Given the description of an element on the screen output the (x, y) to click on. 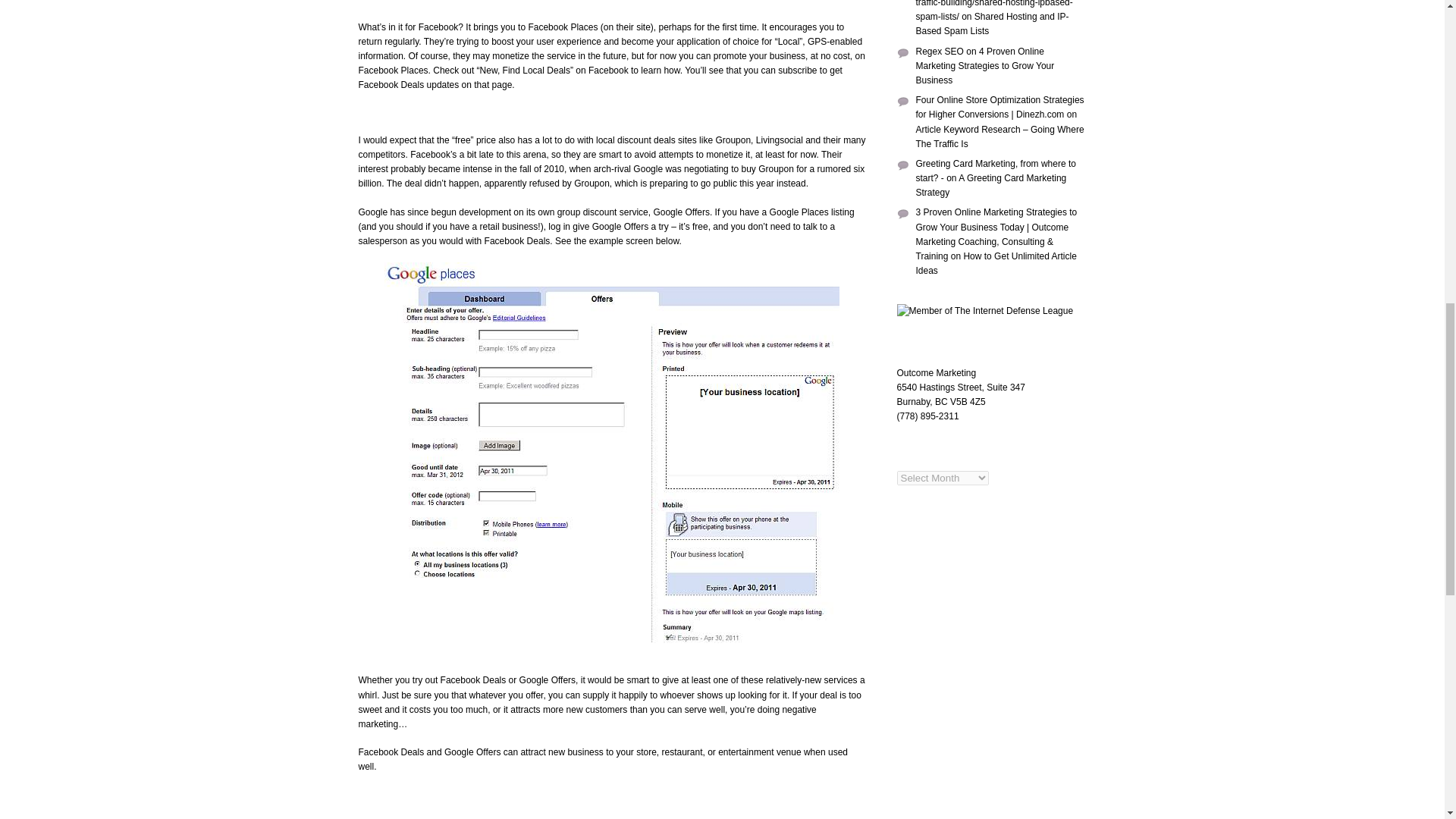
Learn More About Discount Deals Sites (611, 147)
Google Places (799, 212)
Goggle Offers Announced (680, 212)
Groupon Refuses Google Offer (569, 183)
Google Negotiates With Groupon (738, 168)
Information about Facebook Deals on Facebook Places (536, 70)
